Given the description of an element on the screen output the (x, y) to click on. 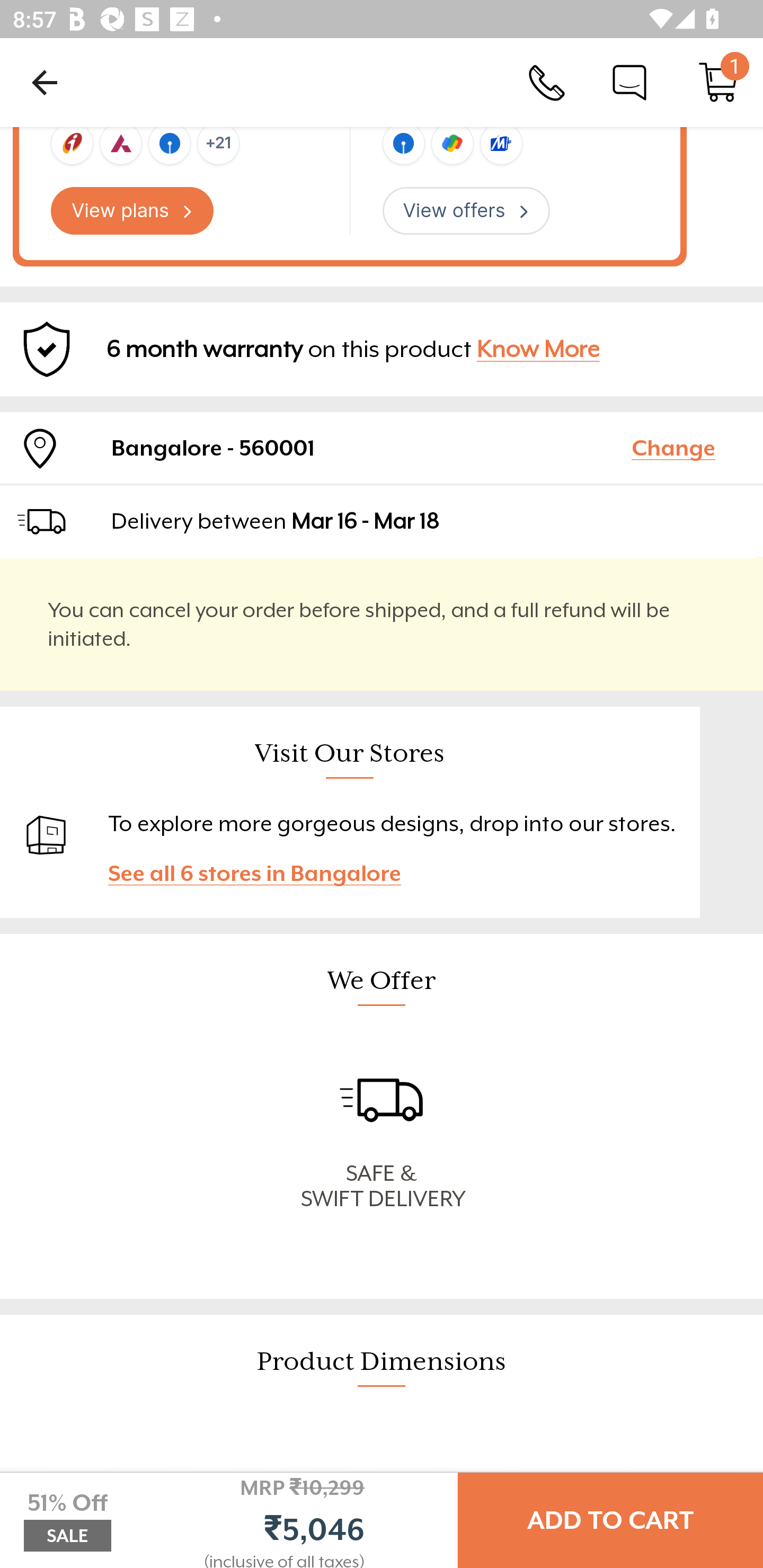
Navigate up (44, 82)
Call Us (546, 81)
Chat (629, 81)
Cart (718, 81)
View plans (132, 210)
View offers (465, 210)
6 month warranty on this product Know More (381, 349)
 Bangalore - 560001 Change (381, 447)
Delivery between Mar 16 - Mar 18 (428, 521)
See all 6 stores in Bangalore (262, 873)
ADD TO CART (610, 1520)
